Given the description of an element on the screen output the (x, y) to click on. 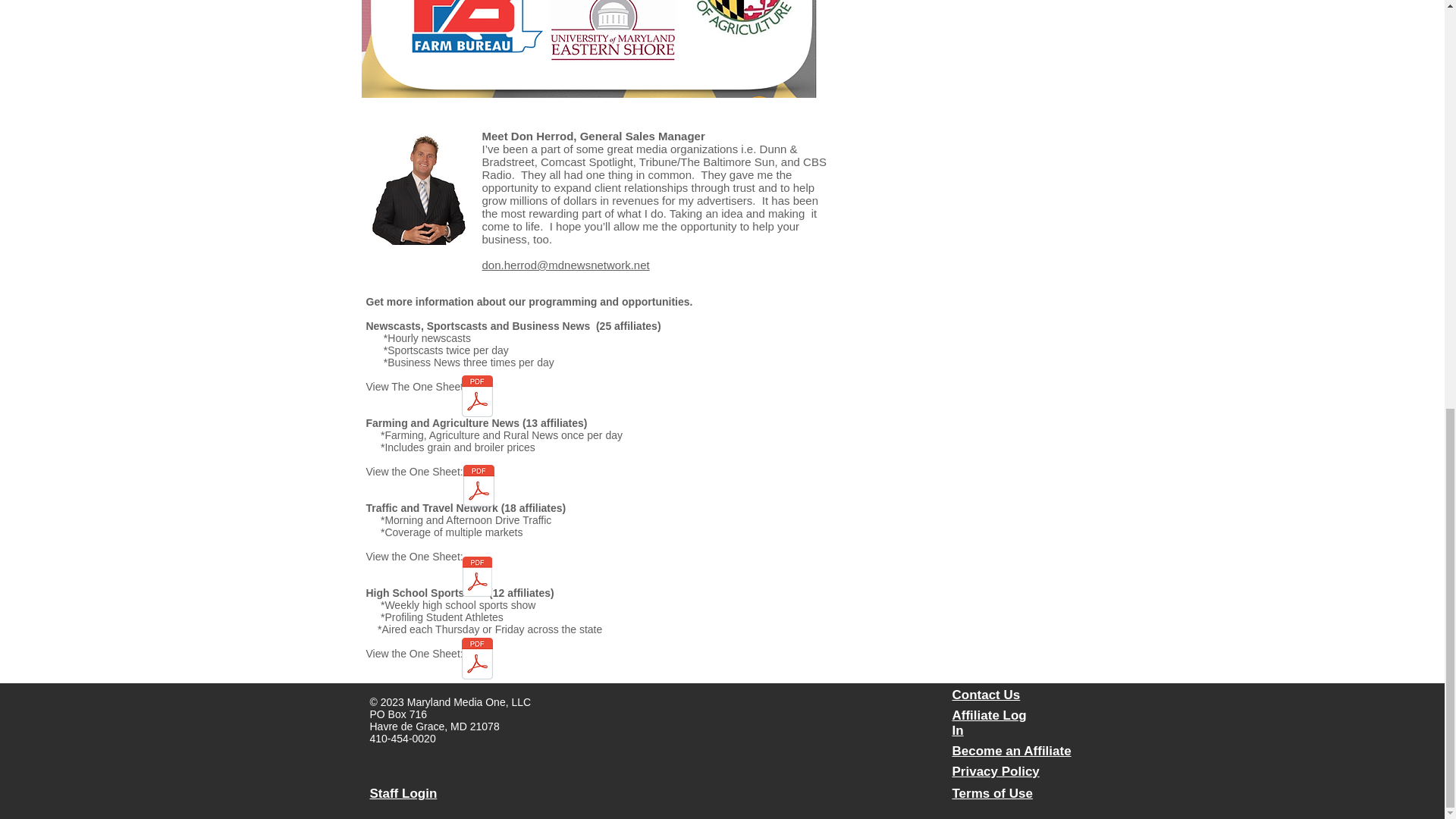
Terms of Use (992, 793)
Become an Affiliate (1011, 750)
Staff Login (403, 793)
Affiliate Log In (989, 722)
MNN-Newscast One Sheet.pdf (476, 397)
MNN-Traffic One Sheet.pdf (475, 578)
MNN-High School SportsLine.pdf (475, 660)
MNN-Farming and Ag One Sheet.pdf (478, 487)
Privacy Policy (995, 771)
Contact Us (986, 694)
